Given the description of an element on the screen output the (x, y) to click on. 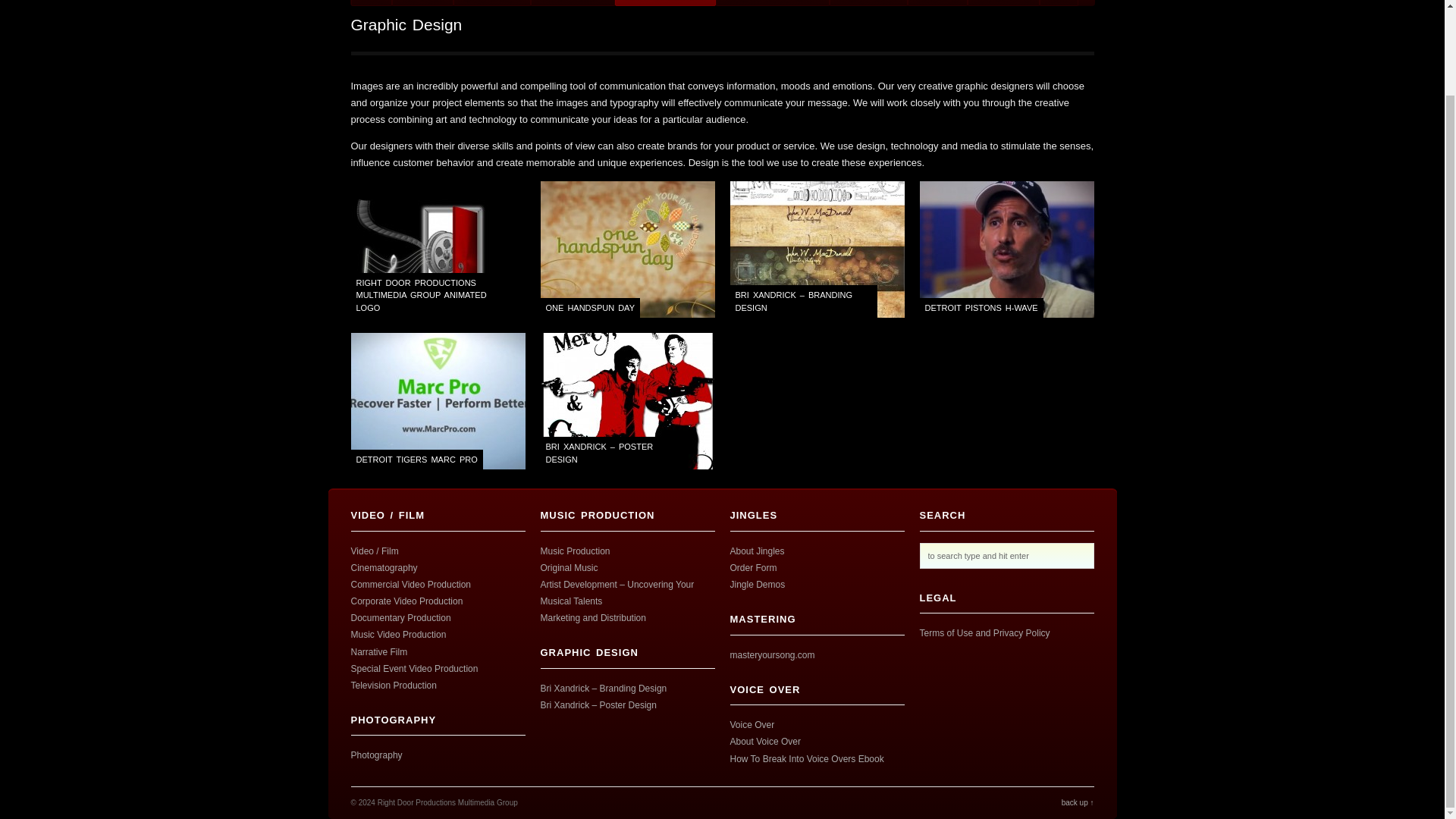
PHOTOGRAPHY (572, 2)
Detroit Tigers Marc Pro (437, 400)
HOME (370, 2)
Right Door Productions Multimedia Group Animated Logo (437, 248)
to search type and hit enter (1005, 555)
One Handspun Day (627, 248)
Detroit Pistons H-WAVE (1005, 248)
OUR TEAM (421, 2)
